Given the description of an element on the screen output the (x, y) to click on. 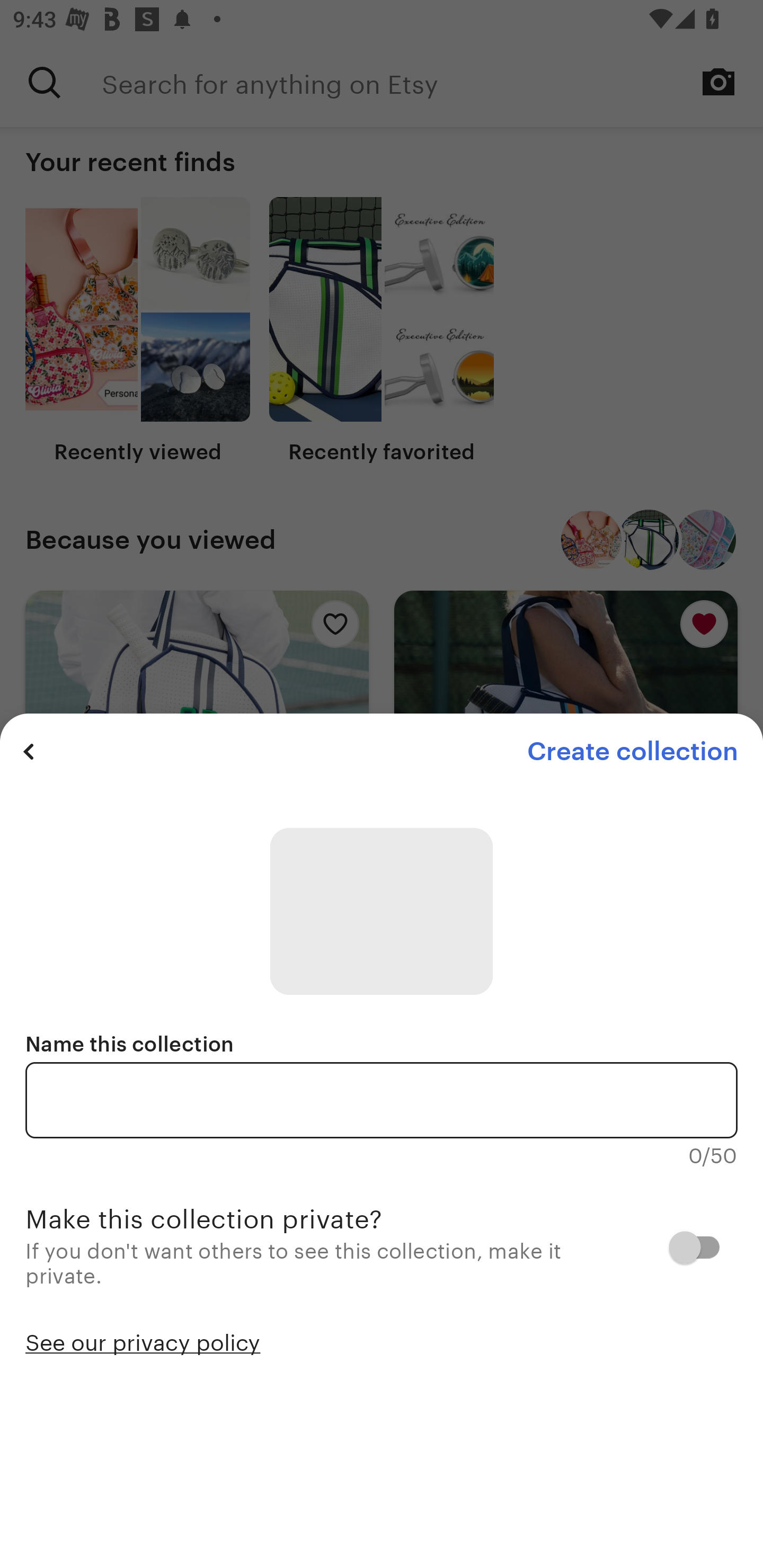
Previous (28, 751)
Create collection (632, 751)
See our privacy policy (142, 1341)
